Given the description of an element on the screen output the (x, y) to click on. 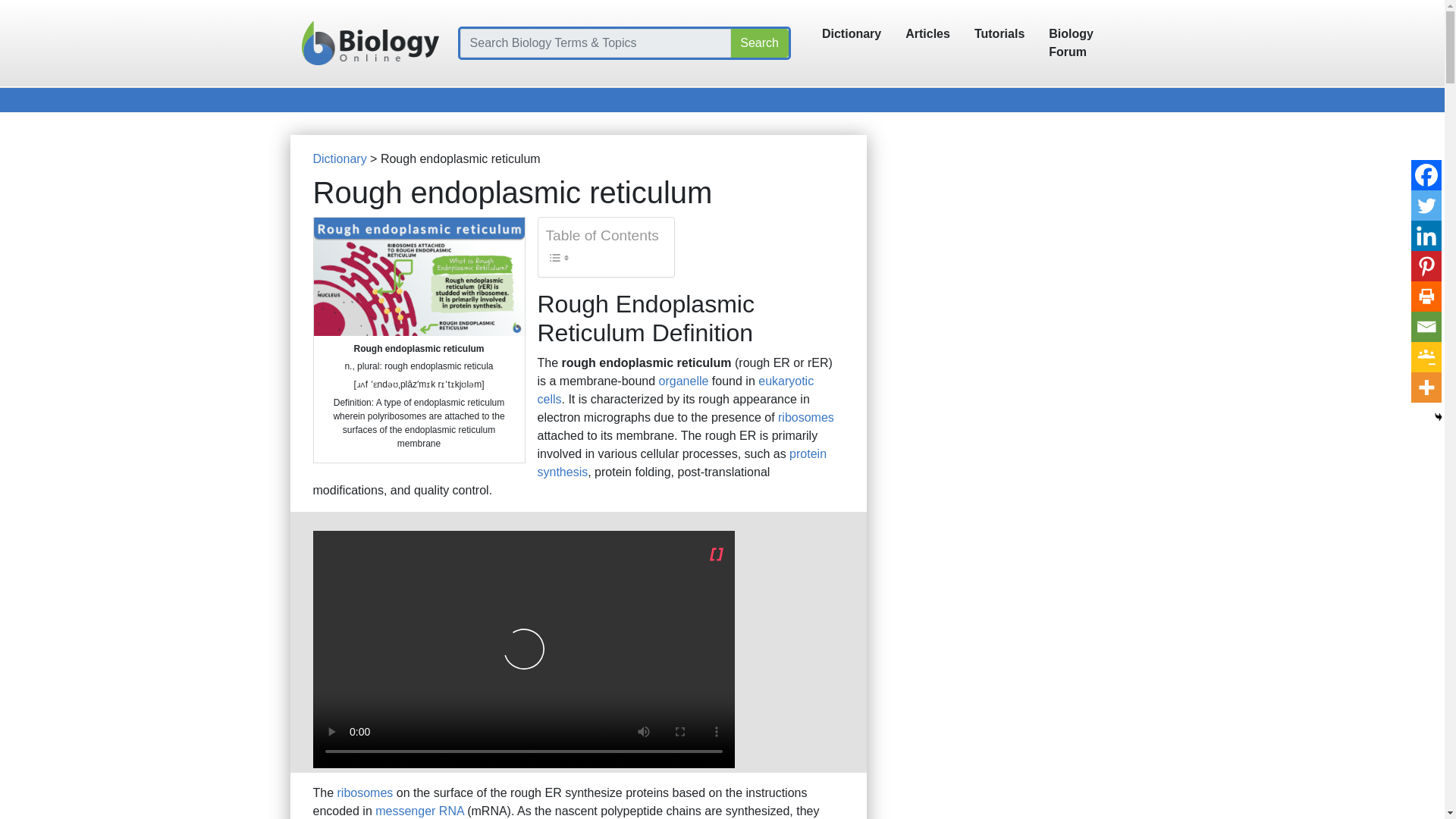
messenger RNA (419, 810)
Articles (927, 33)
ribosomes (805, 417)
eukaryotic cells (675, 389)
Dictionary (851, 33)
Dictionary (339, 158)
Biology Forum (1089, 42)
Dictionary (851, 33)
Search (759, 42)
Search (759, 42)
protein synthesis (682, 462)
Biology Forum (1089, 42)
Articles (927, 33)
organelle (684, 380)
ribosomes (365, 792)
